Given the description of an element on the screen output the (x, y) to click on. 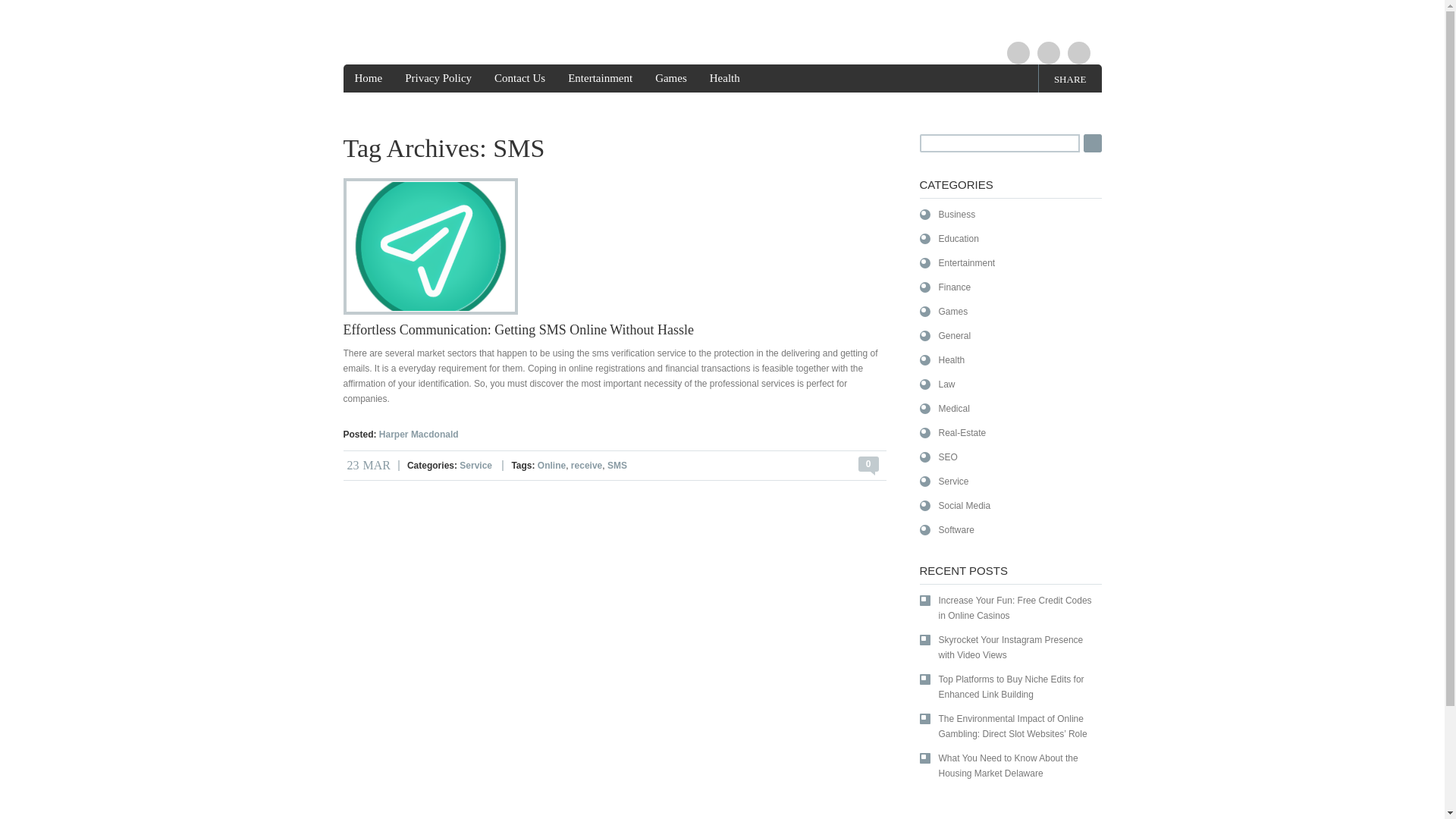
Increase Your Fun: Free Credit Codes in Online Casinos (1007, 607)
SEO (937, 457)
Social Media (954, 505)
Entertainment (599, 78)
Top Platforms to Buy Niche Edits for Enhanced Link Building (1007, 686)
Health (940, 359)
Service (943, 481)
View all posts by Harper Macdonald (418, 434)
SHARE (1070, 79)
